Given the description of an element on the screen output the (x, y) to click on. 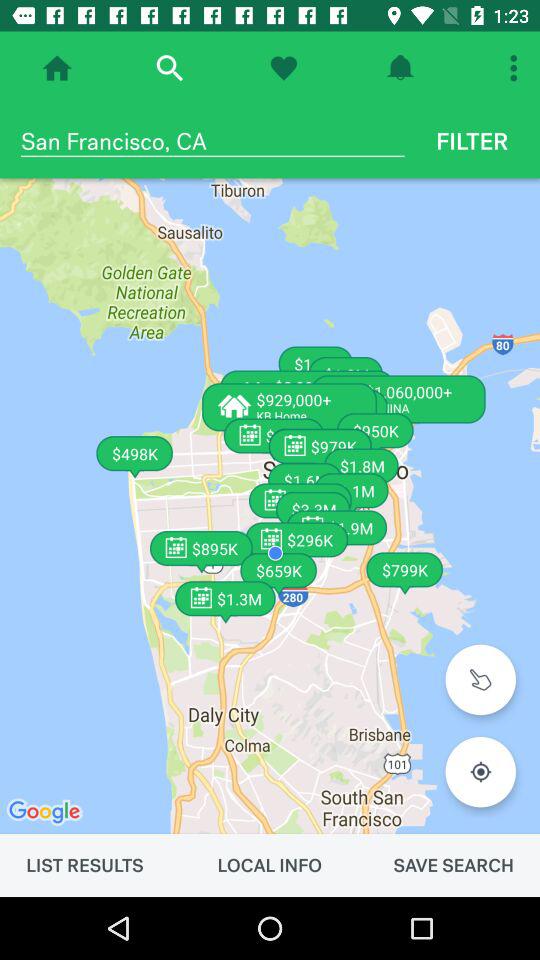
launch the icon next to the san francisco, ca item (472, 141)
